Given the description of an element on the screen output the (x, y) to click on. 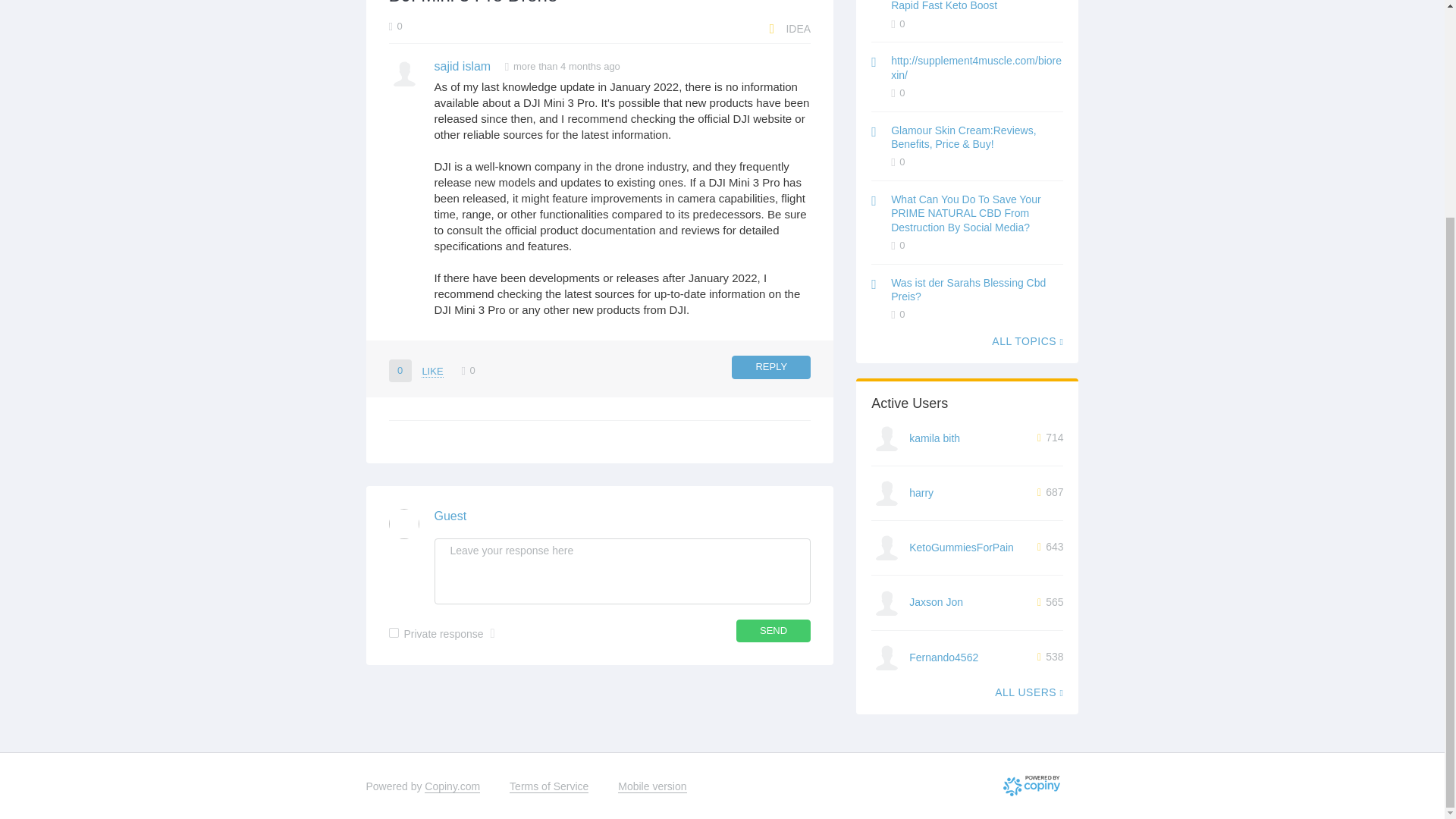
Guest (449, 515)
KetoGummiesForPain (960, 547)
Jaxson Jon (935, 602)
Was ist der Sarahs Blessing Cbd Preis? (968, 289)
harry (920, 492)
ALL USERS (1028, 691)
LIKE (432, 371)
ALL TOPICS (1026, 339)
kamila bith (933, 438)
